Given the description of an element on the screen output the (x, y) to click on. 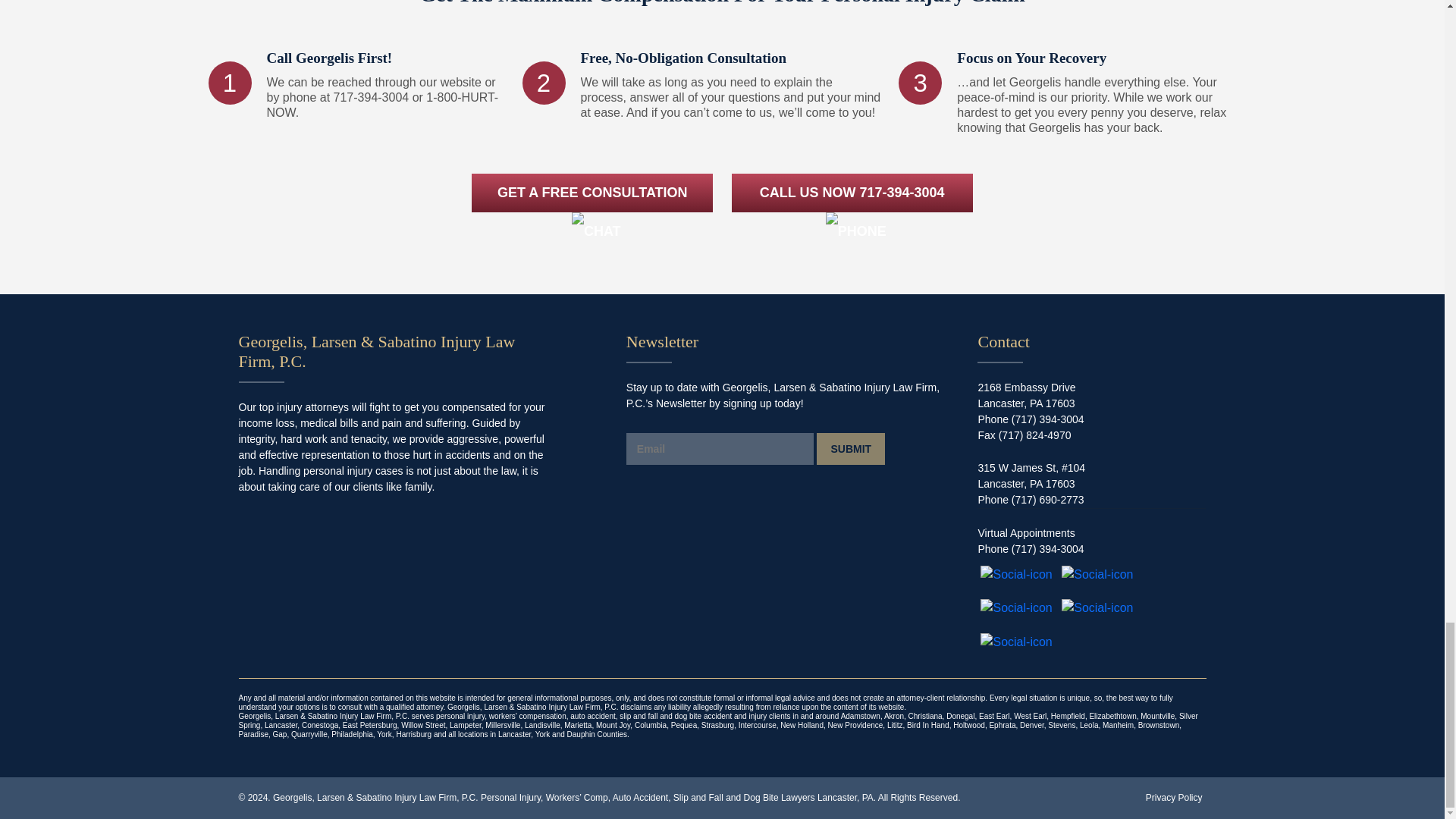
Submit (850, 449)
